Given the description of an element on the screen output the (x, y) to click on. 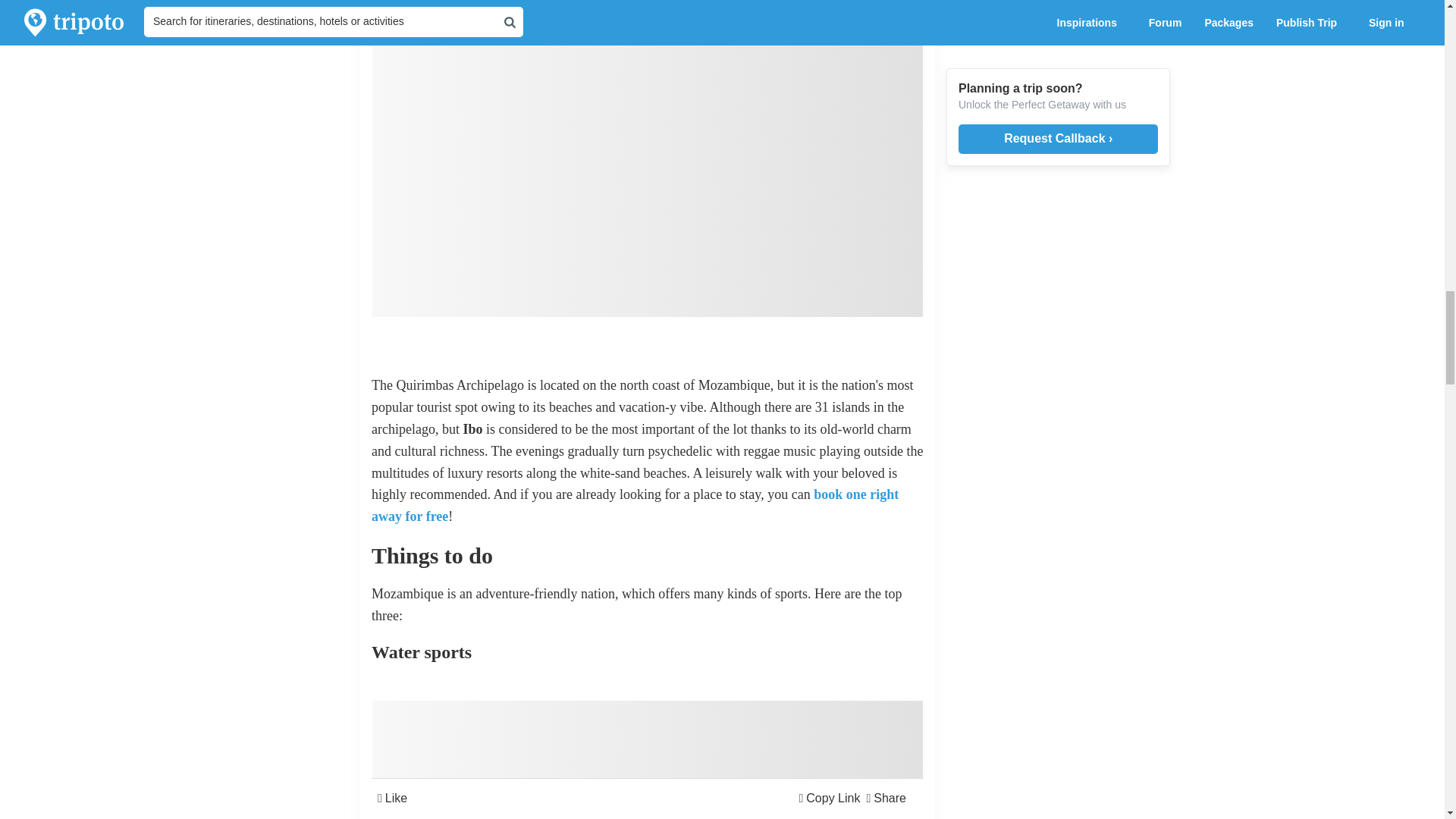
book one right away for free (634, 505)
